Given the description of an element on the screen output the (x, y) to click on. 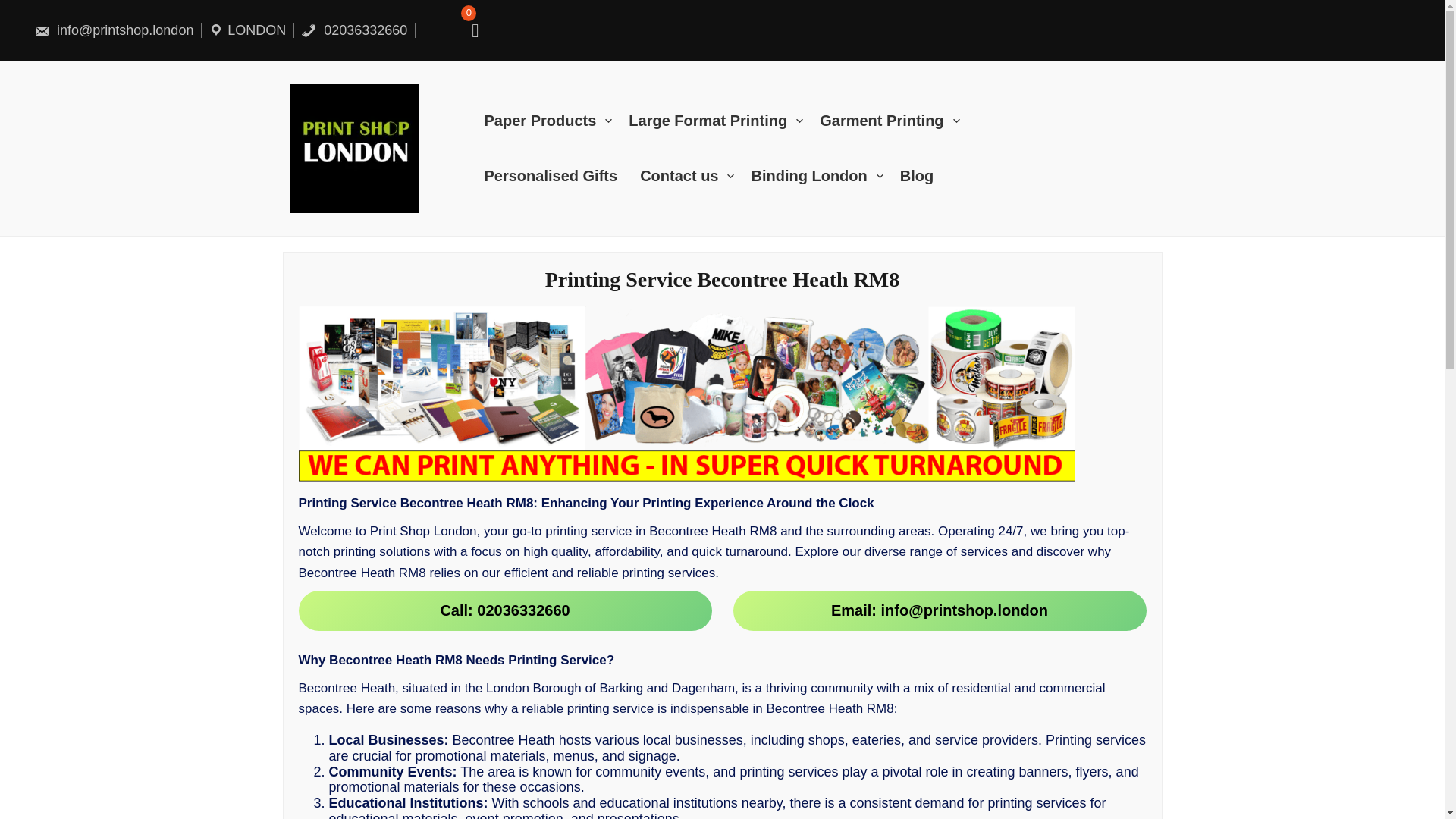
Paper Products (555, 120)
Garment Printing (897, 120)
Large Format Printing (723, 120)
Personalised Gifts (561, 175)
02036332660 (354, 29)
Contact us (695, 175)
0 (469, 30)
Binding London (825, 175)
